Given the description of an element on the screen output the (x, y) to click on. 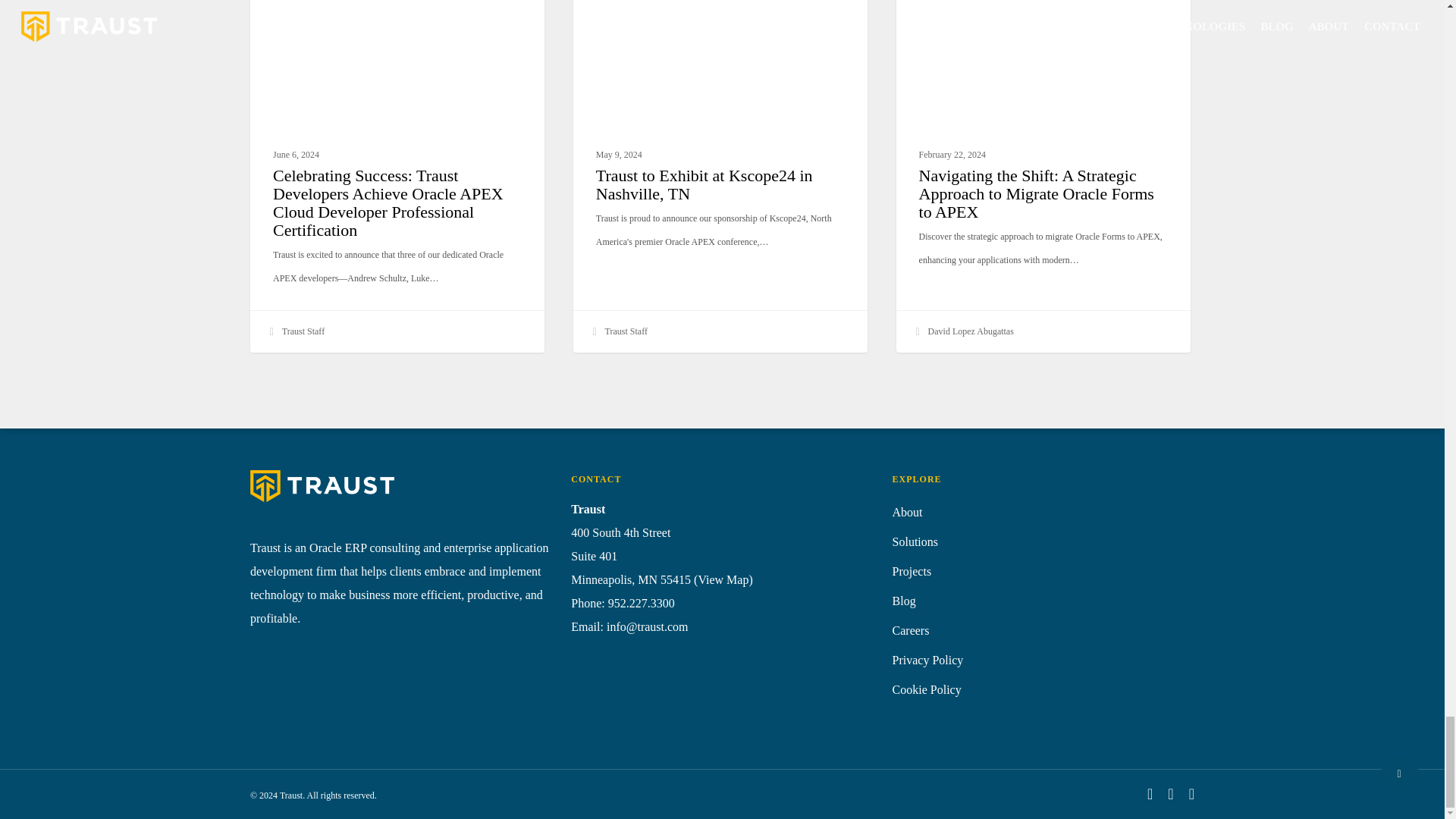
Traust Staff (295, 331)
